Given the description of an element on the screen output the (x, y) to click on. 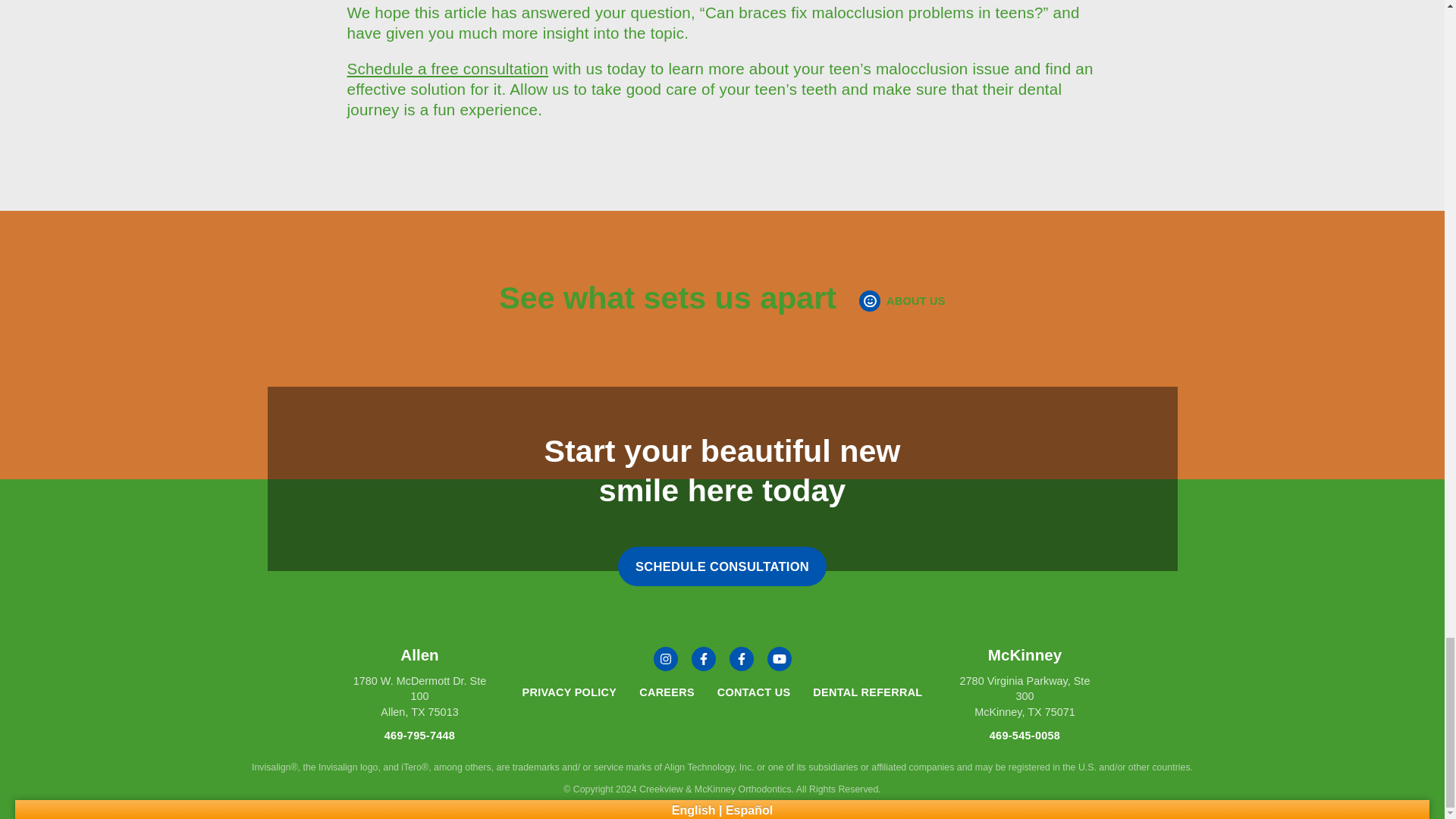
McKinney Facebook (420, 683)
SCHEDULE CONSULTATION (741, 658)
Schedule a free consultation (722, 566)
Creekview Facebook (447, 67)
ABOUT US (703, 658)
469-795-7448 (901, 301)
